Given the description of an element on the screen output the (x, y) to click on. 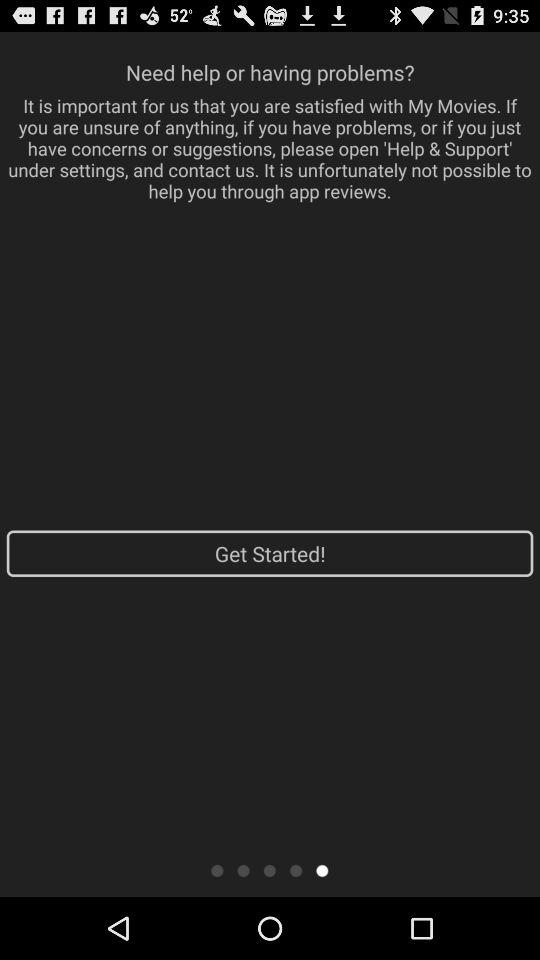
open the icon below get started! app (216, 870)
